Given the description of an element on the screen output the (x, y) to click on. 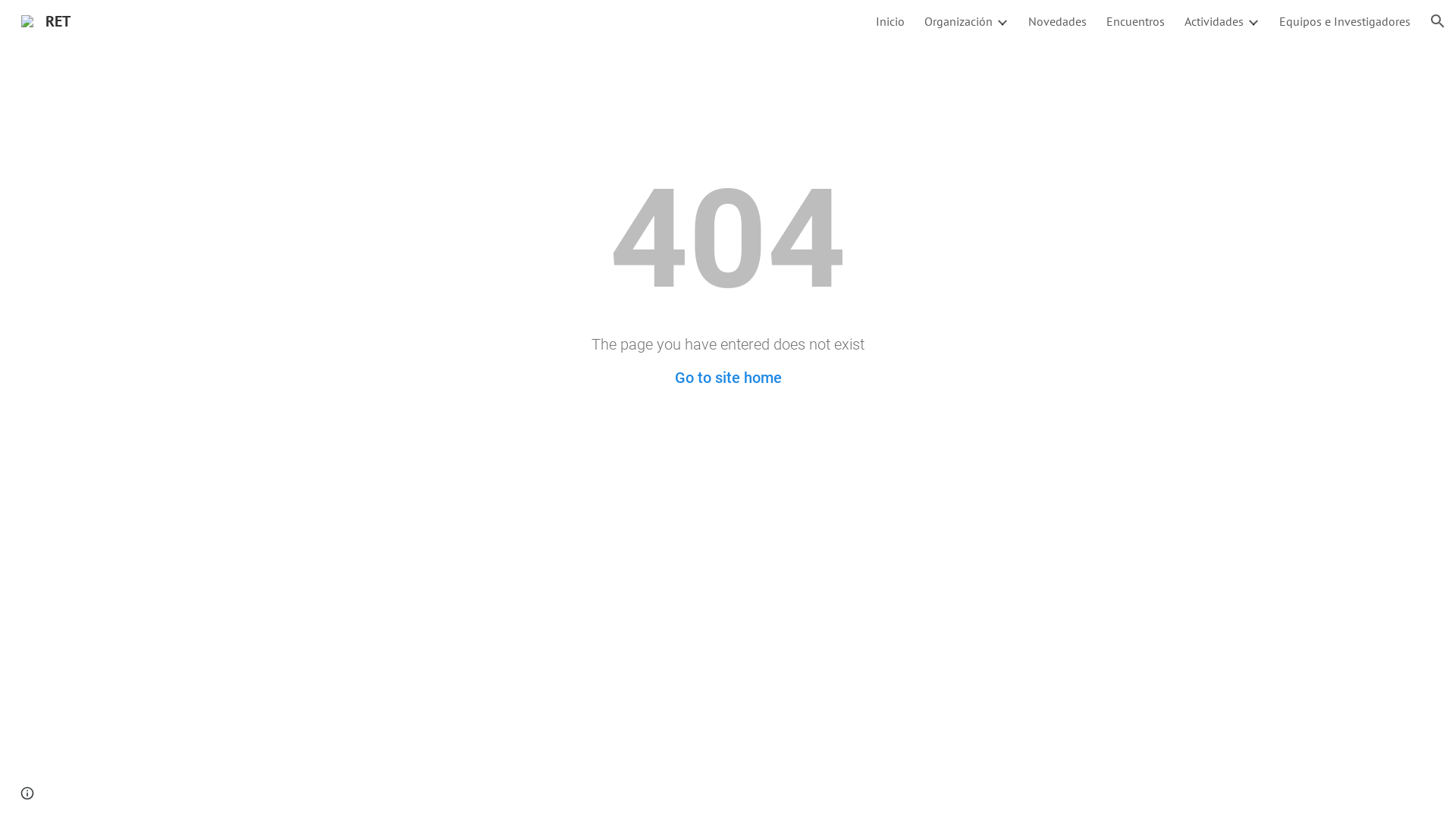
RET Element type: text (45, 19)
Equipos e Investigadores Element type: text (1344, 20)
Expand/Collapse Element type: hover (1001, 20)
Go to site home Element type: text (727, 377)
Actividades Element type: text (1213, 20)
Encuentros Element type: text (1135, 20)
Inicio Element type: text (889, 20)
Novedades Element type: text (1057, 20)
Expand/Collapse Element type: hover (1252, 20)
